Given the description of an element on the screen output the (x, y) to click on. 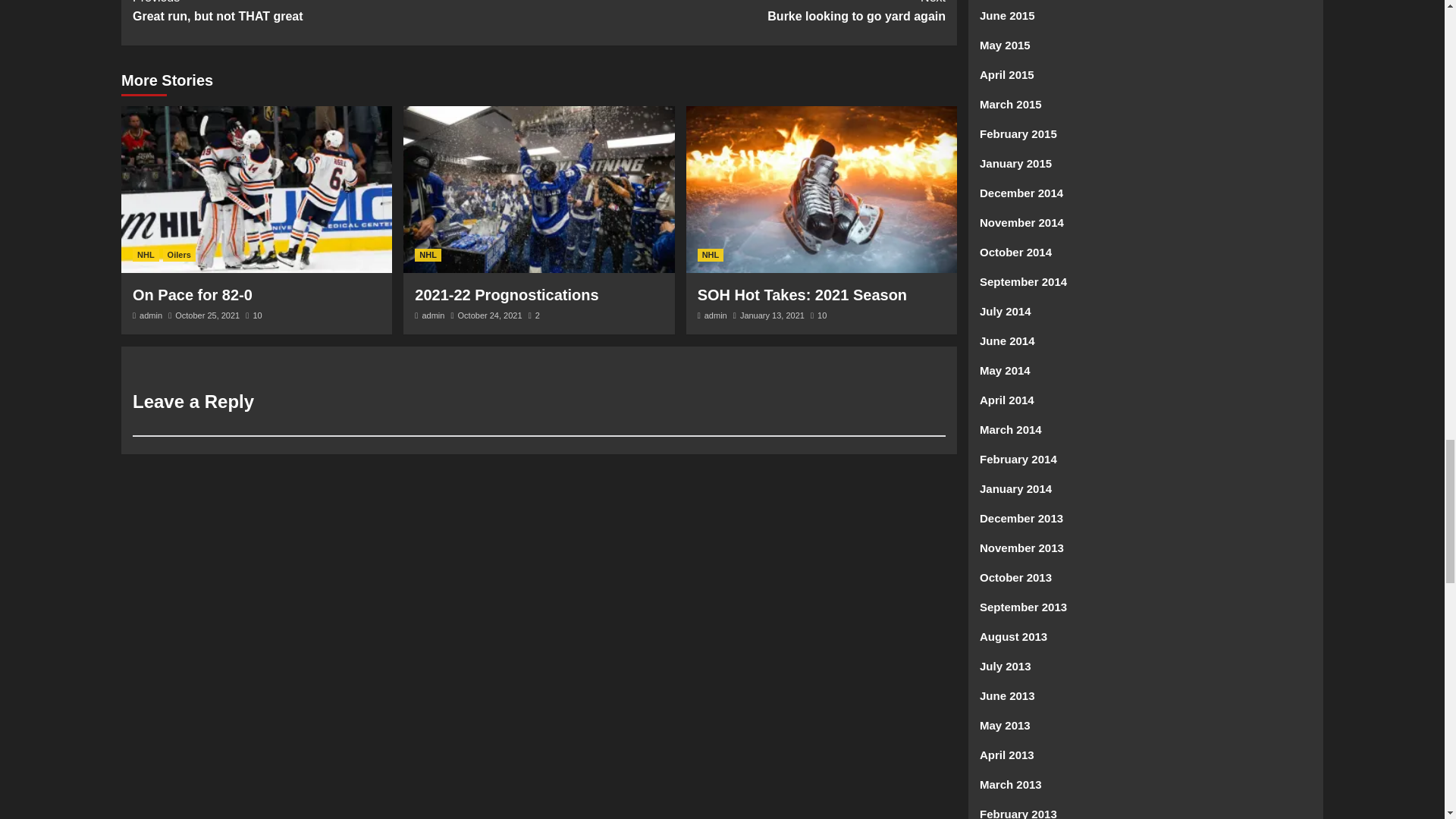
2 (534, 315)
October 25, 2021 (207, 315)
NHL (741, 13)
Comment Form (710, 254)
admin (772, 315)
NHL (433, 315)
admin (145, 254)
On Pace for 82-0 (715, 315)
10 (191, 294)
admin (818, 315)
NHL (150, 315)
10 (427, 254)
SOH Hot Takes: 2021 Season (254, 315)
